Given the description of an element on the screen output the (x, y) to click on. 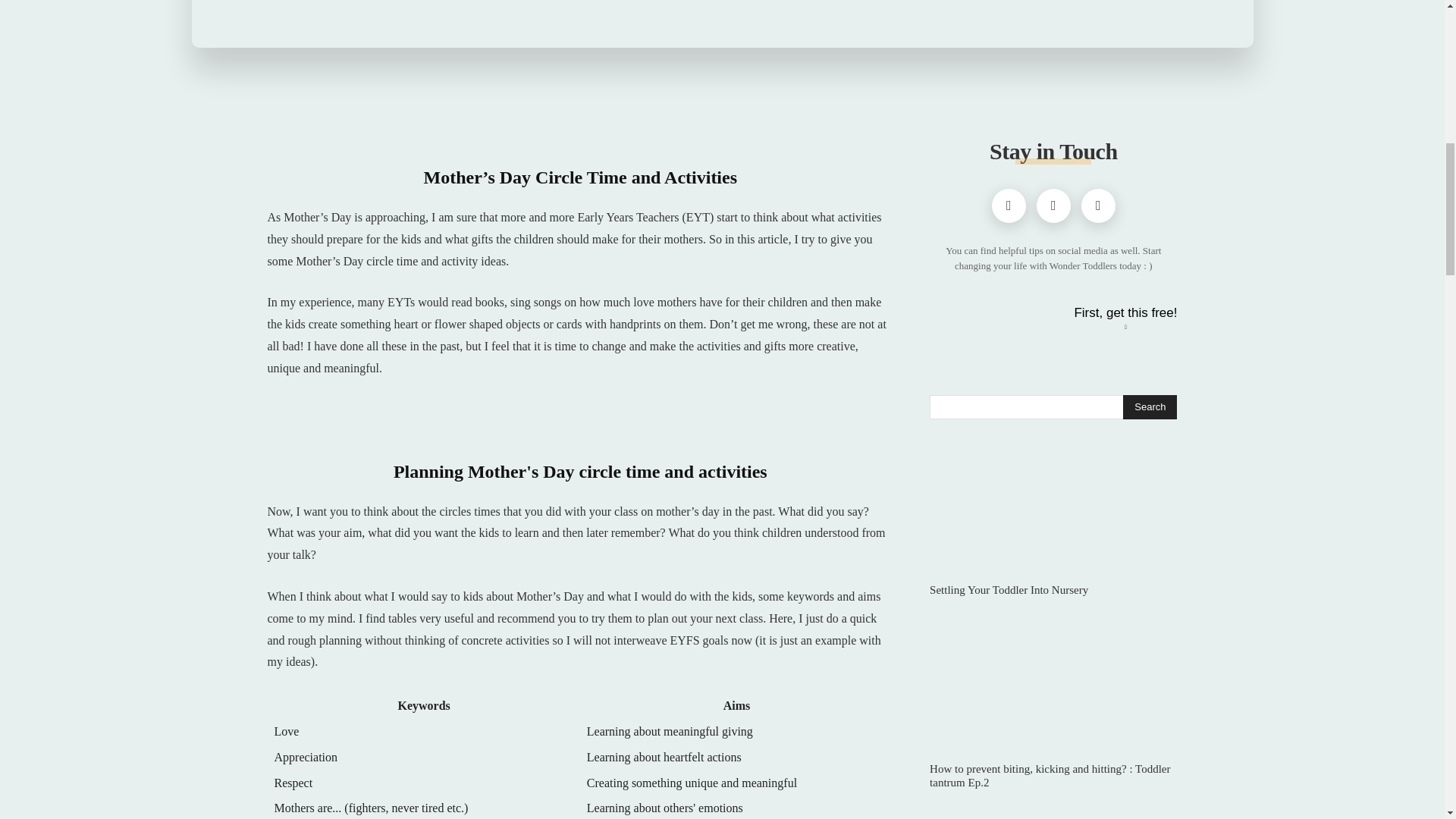
Settling Your Toddler Into Nursery (1008, 589)
Settling Your Toddler Into Nursery (1053, 511)
